Given the description of an element on the screen output the (x, y) to click on. 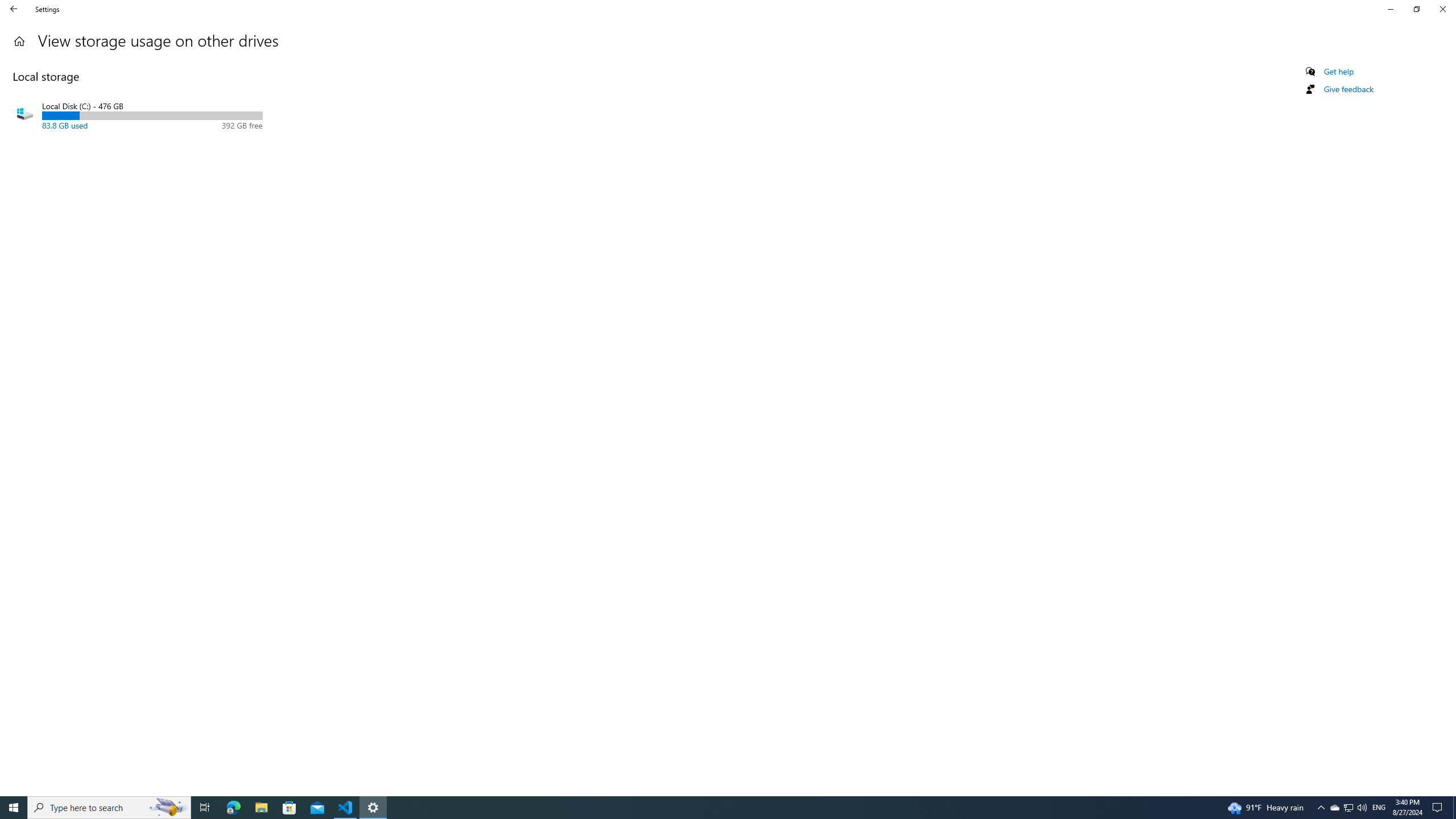
Tray Input Indicator - English (United States) (1378, 807)
Settings - 1 running window (373, 807)
User Promoted Notification Area (1347, 807)
Get help (1338, 71)
Restore Settings (1416, 9)
Start (13, 807)
Type here to search (108, 807)
Action Center, No new notifications (1439, 807)
Back (1333, 807)
Home (13, 9)
Give feedback (19, 40)
Microsoft Store (1348, 88)
